Given the description of an element on the screen output the (x, y) to click on. 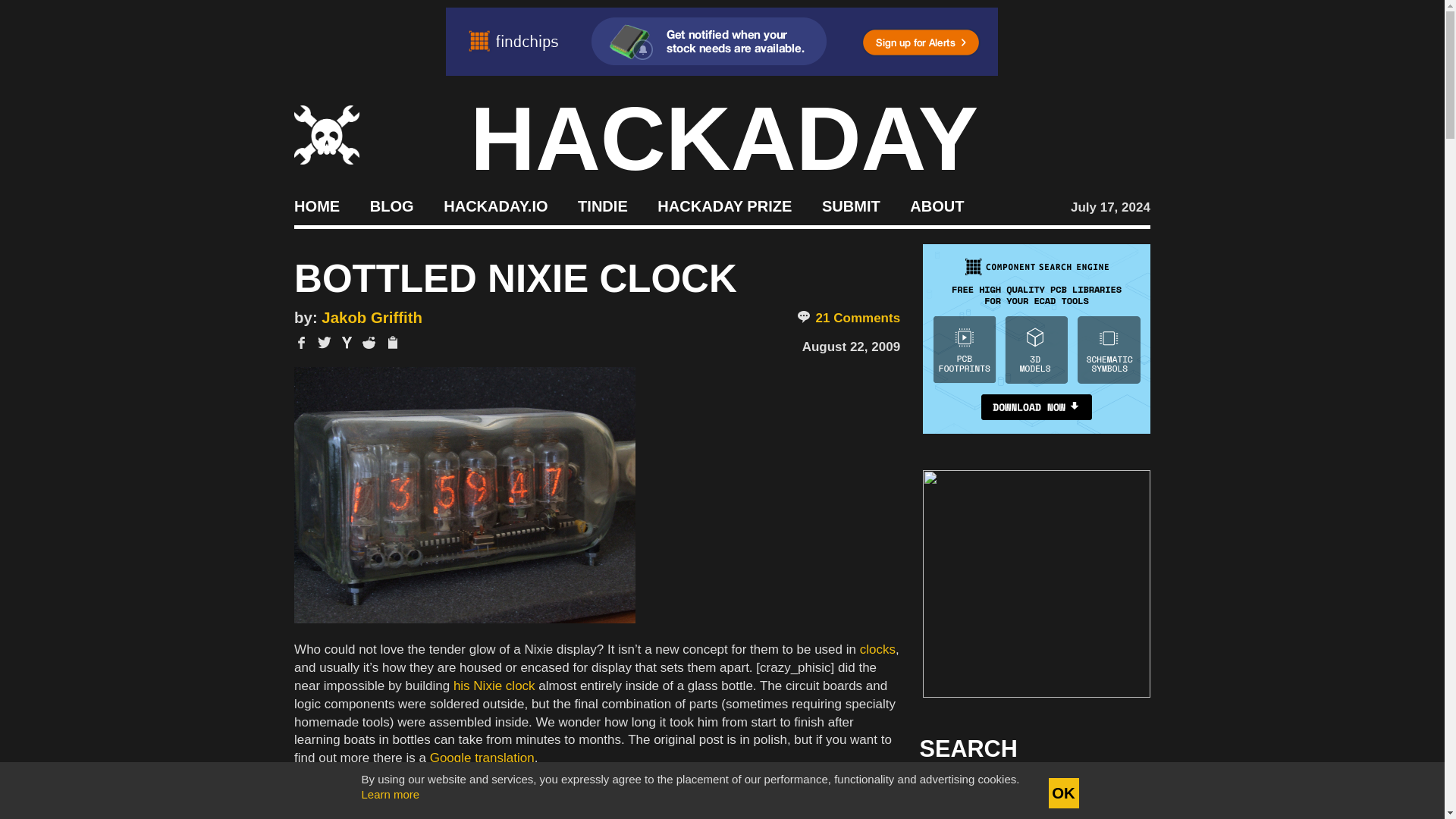
Google translation (481, 757)
his Nixie clock (493, 685)
Build Something that Matters (725, 205)
Share on Reddit (369, 342)
BLOG (391, 205)
HACKADAY PRIZE (725, 205)
SUBMIT (851, 205)
HOME (316, 205)
Share on Hacker News (347, 342)
HACKADAY (724, 138)
August 22, 2009 (850, 346)
Share on Facebook (301, 342)
21 Comments (847, 318)
Copy title or shortlink (391, 343)
ABOUT (936, 205)
